Given the description of an element on the screen output the (x, y) to click on. 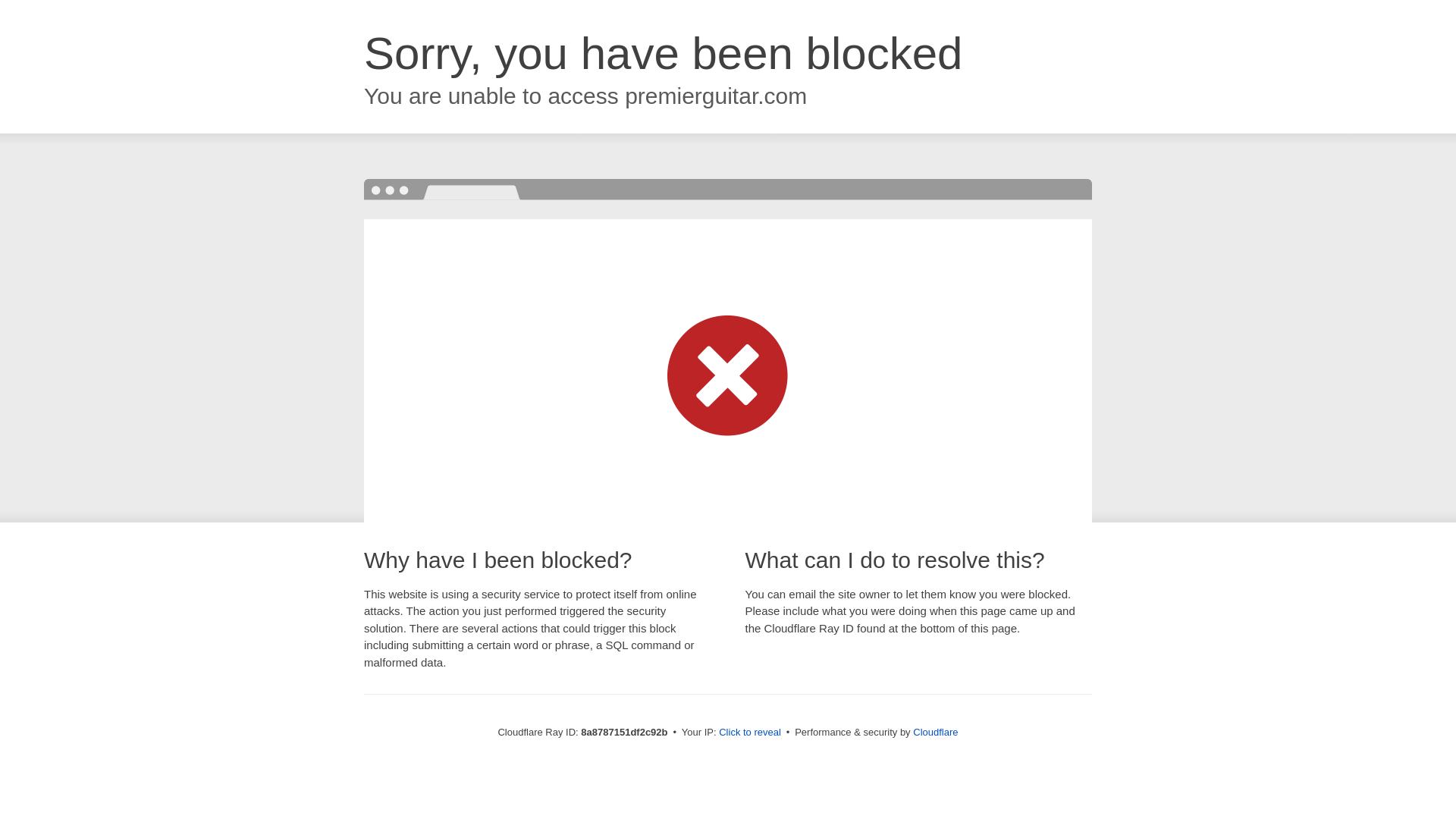
Cloudflare (935, 731)
Click to reveal (749, 732)
